Given the description of an element on the screen output the (x, y) to click on. 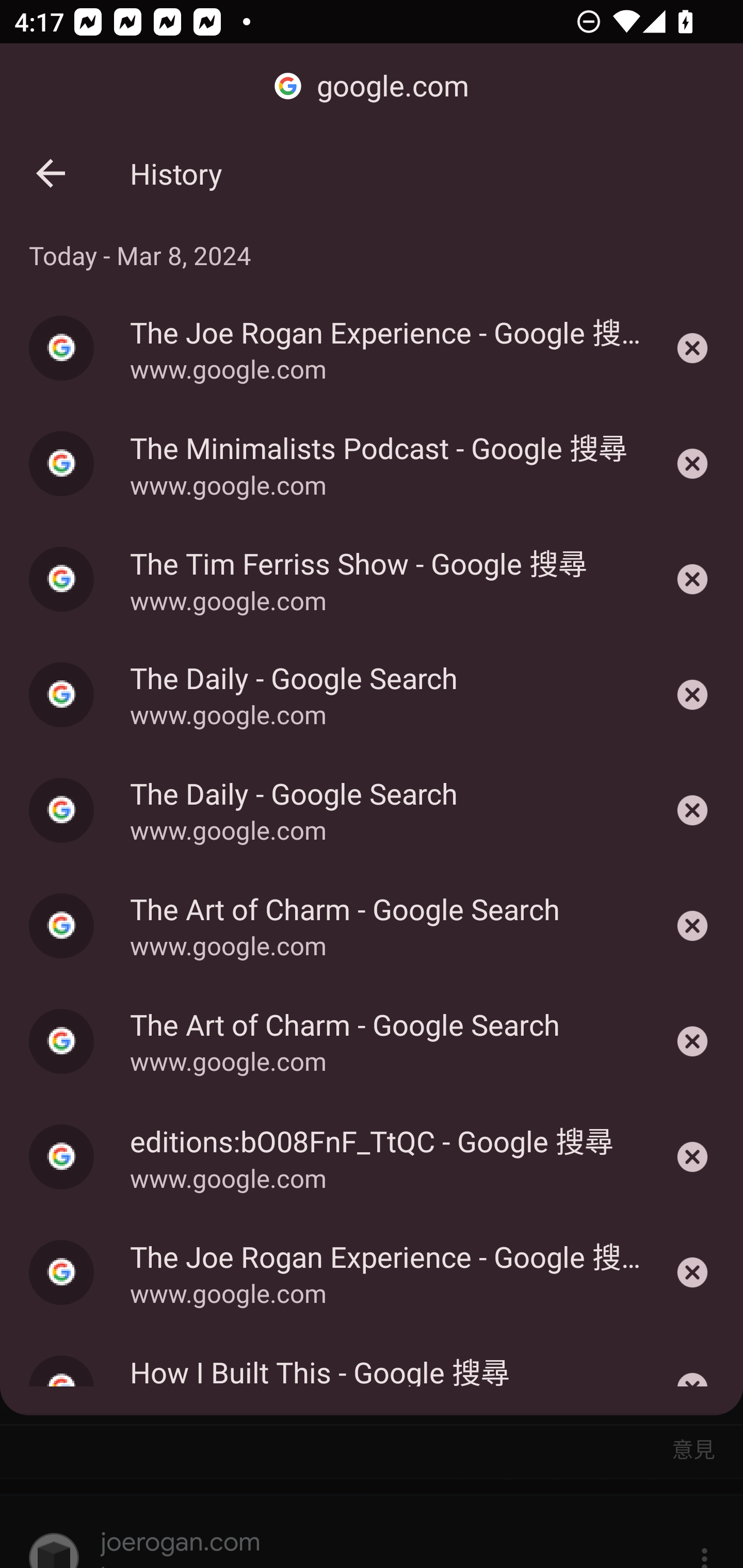
google.com (371, 86)
Back (50, 173)
The Joe Rogan Experience - Google 搜尋 Remove (692, 348)
The Minimalists Podcast - Google 搜尋 Remove (692, 464)
The Tim Ferriss Show - Google 搜尋 Remove (692, 579)
The Daily - Google Search Remove (692, 694)
The Daily - Google Search Remove (692, 810)
The Art of Charm - Google Search Remove (692, 925)
The Art of Charm - Google Search Remove (692, 1041)
editions:bO08FnF_TtQC - Google 搜尋 Remove (692, 1157)
The Joe Rogan Experience - Google 搜尋 Remove (692, 1272)
